Given the description of an element on the screen output the (x, y) to click on. 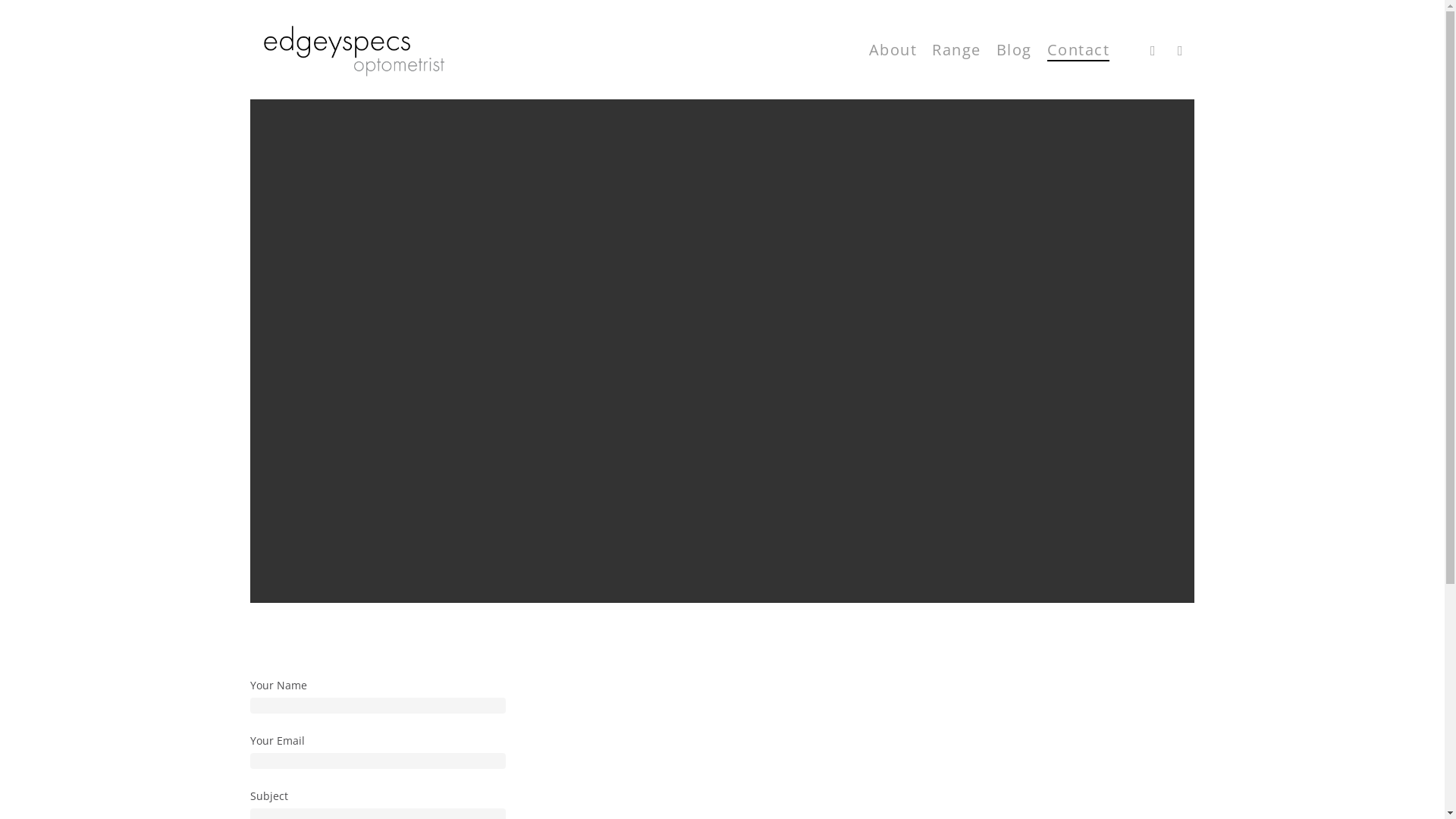
Range Element type: text (956, 49)
Blog Element type: text (1014, 49)
About Element type: text (893, 49)
Contact Element type: text (1077, 49)
